Given the description of an element on the screen output the (x, y) to click on. 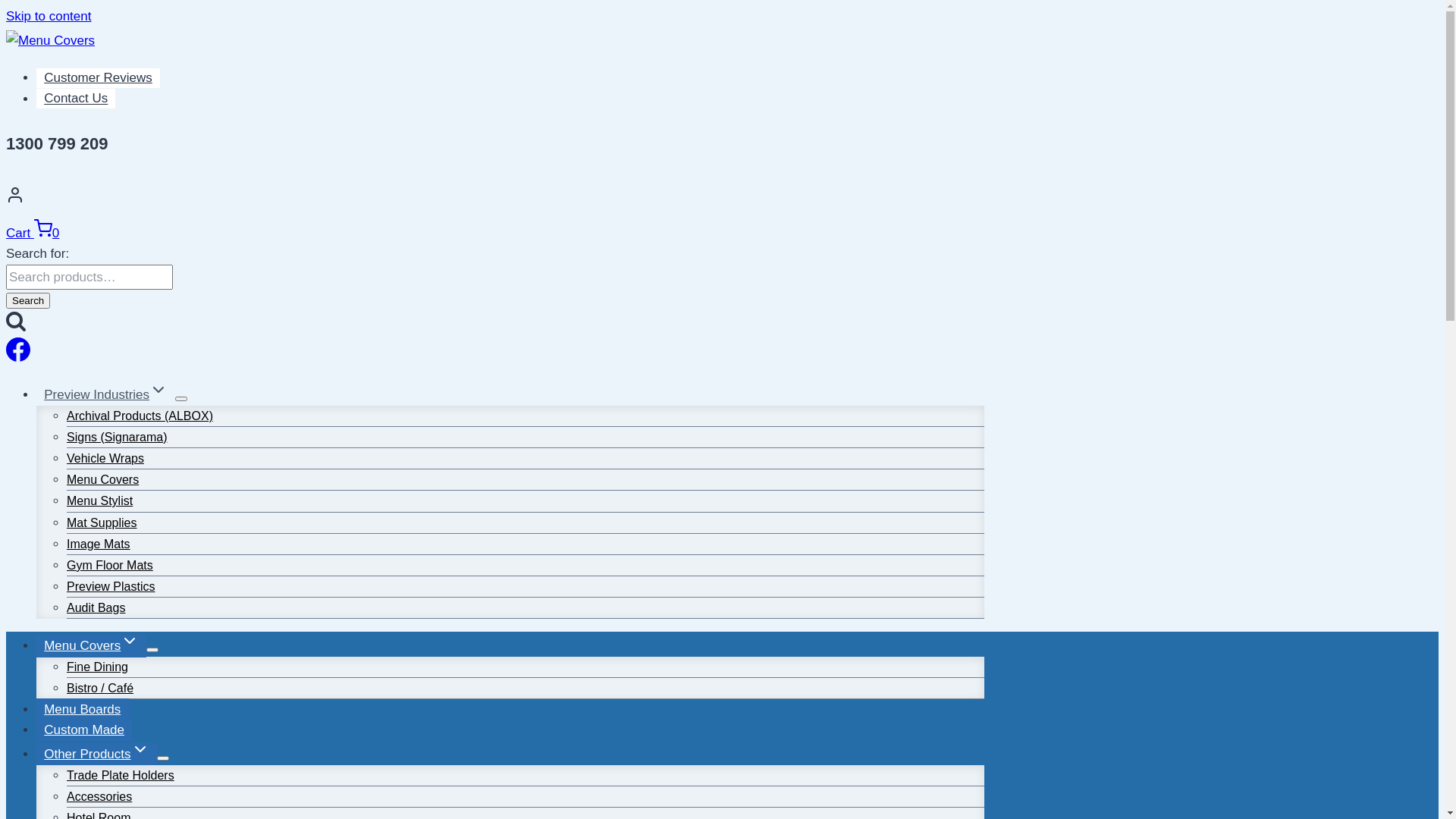
Menu Covers Element type: text (102, 479)
Cart Shopping Cart 0 Element type: text (32, 232)
Customer Reviews Element type: text (98, 77)
Preview IndustriesExpand Element type: text (105, 394)
Mat Supplies Element type: text (101, 522)
Other ProductsExpand Element type: text (96, 754)
Signs (Signarama) Element type: text (116, 436)
Facebook Element type: text (18, 357)
Preview Plastics Element type: text (110, 586)
Archival Products (ALBOX) Element type: text (139, 415)
Contact Us Element type: text (75, 98)
Trade Plate Holders Element type: text (120, 774)
Search Element type: text (28, 300)
Gym Floor Mats Element type: text (109, 564)
Fine Dining Element type: text (97, 666)
Menu Boards Element type: text (82, 709)
Skip to content Element type: text (48, 16)
Menu CoversExpand Element type: text (91, 645)
Audit Bags Element type: text (95, 607)
Menu Stylist Element type: text (99, 500)
Vehicle Wraps Element type: text (105, 457)
Account Element type: text (495, 198)
Accessories Element type: text (98, 796)
Custom Made Element type: text (83, 729)
Image Mats Element type: text (98, 543)
